Given the description of an element on the screen output the (x, y) to click on. 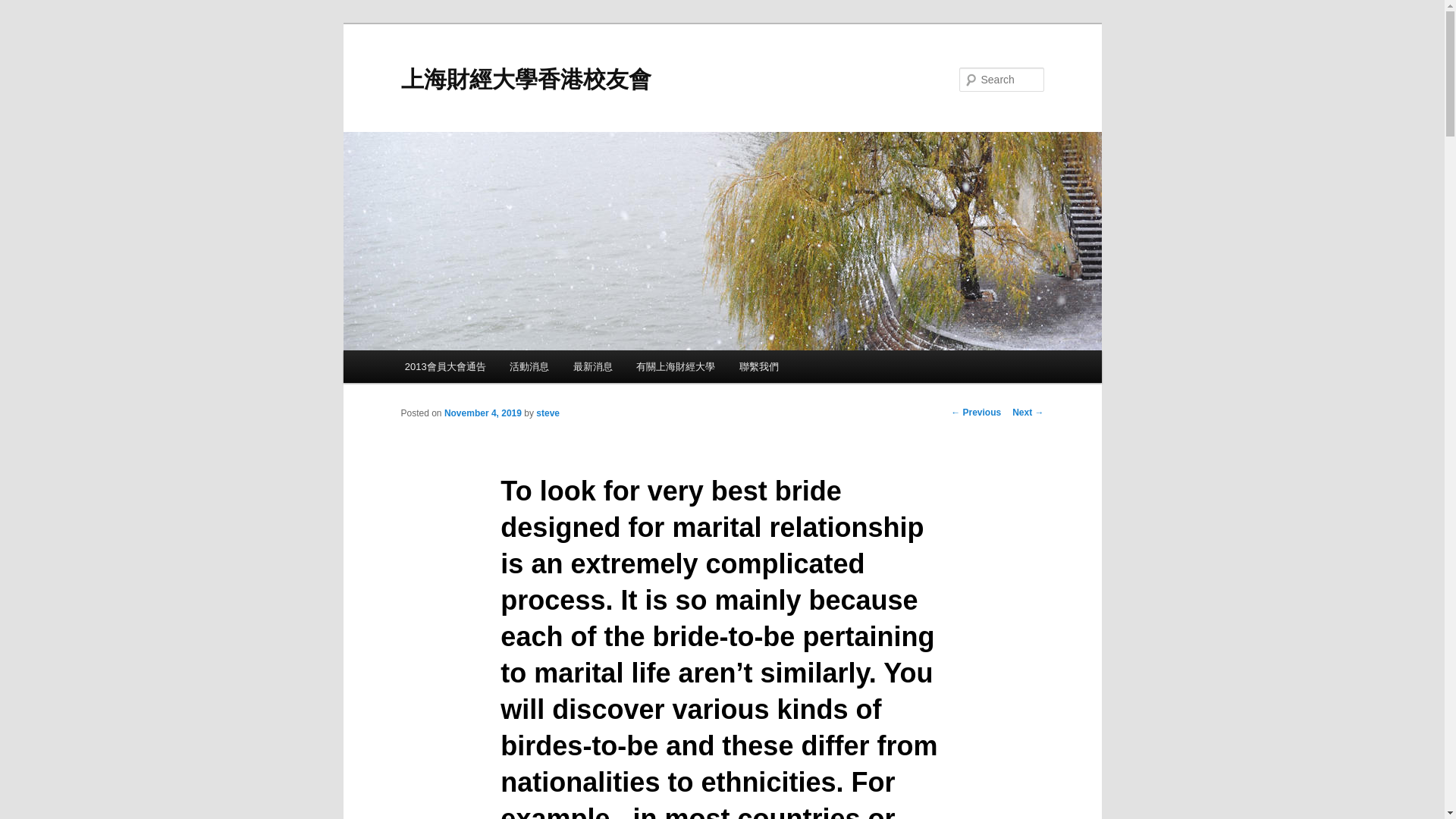
steve (547, 412)
November 4, 2019 (482, 412)
Search (24, 8)
View all posts by steve (547, 412)
8:00 am (482, 412)
